Given the description of an element on the screen output the (x, y) to click on. 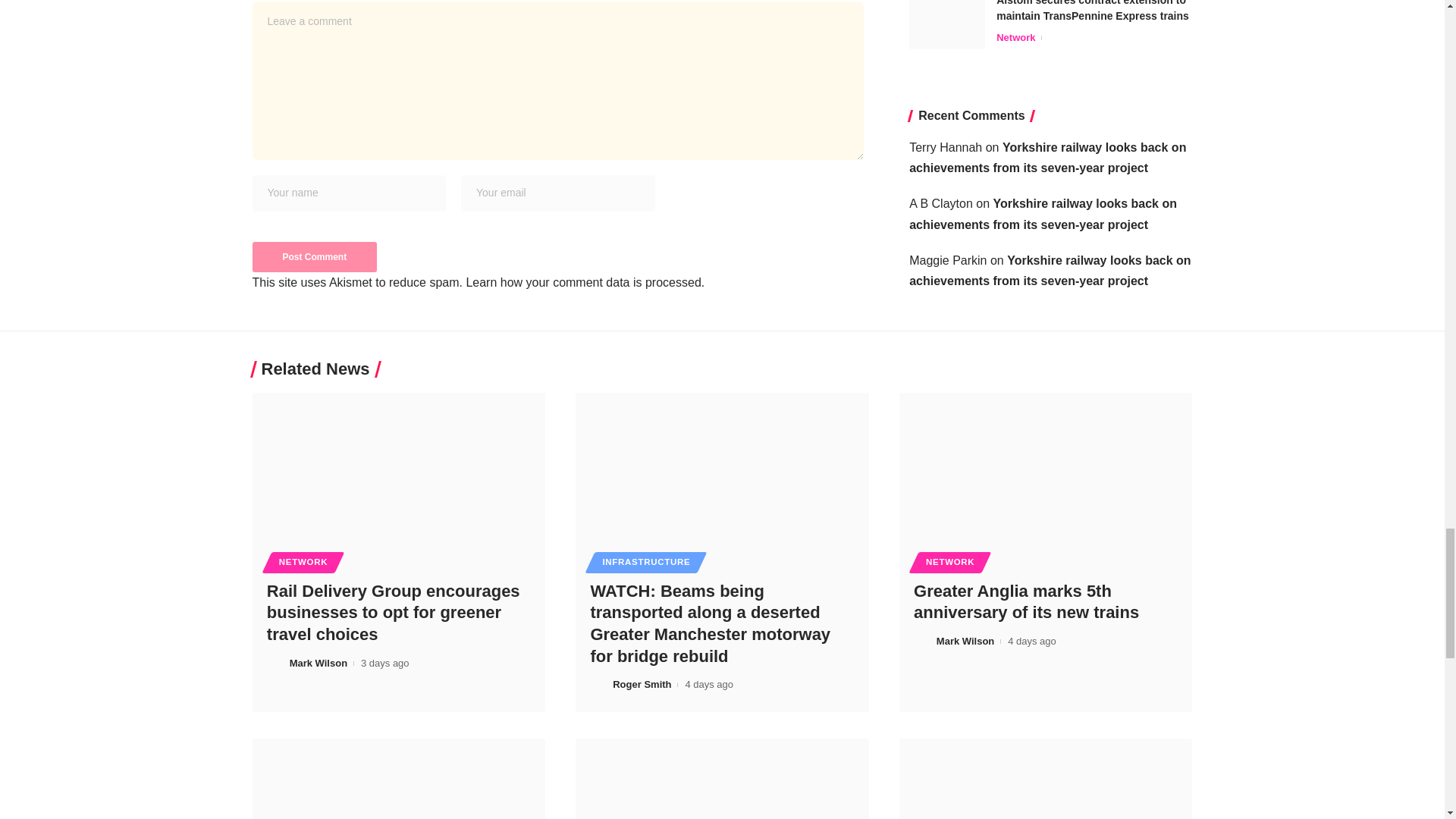
Post Comment (314, 256)
